Given the description of an element on the screen output the (x, y) to click on. 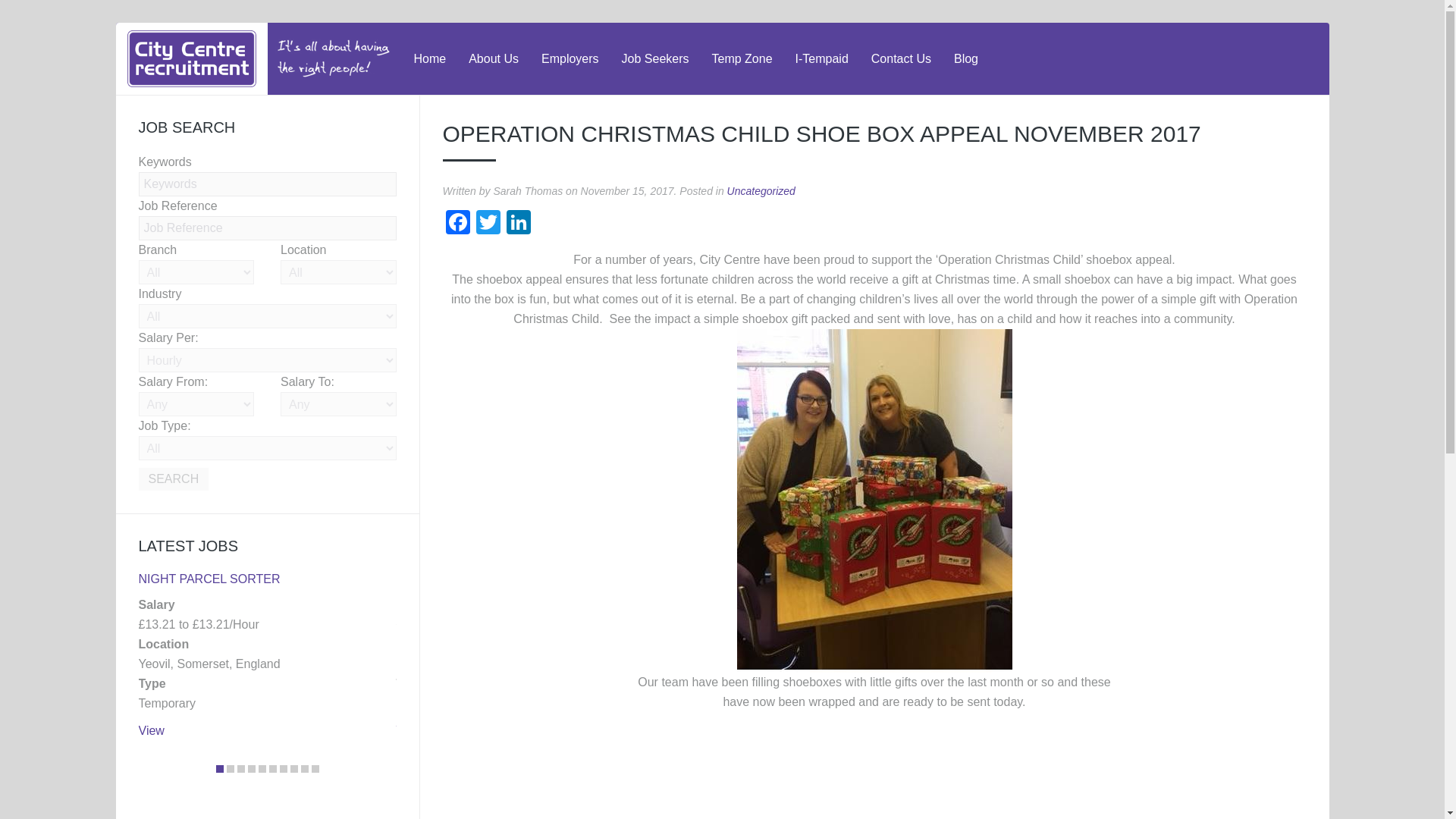
Search (173, 478)
LinkedIn (518, 223)
OCC 2017 Campaign Film - Shoebox Joy in Zimbabwe (632, 769)
Night Parcel Sorter (208, 578)
Facebook (457, 223)
Twitter (488, 223)
Night Parcel Sorter (150, 730)
Job Seekers (654, 58)
Twitter (488, 223)
LinkedIn (518, 223)
Search (173, 478)
Facebook (457, 223)
Uncategorized (760, 191)
